Given the description of an element on the screen output the (x, y) to click on. 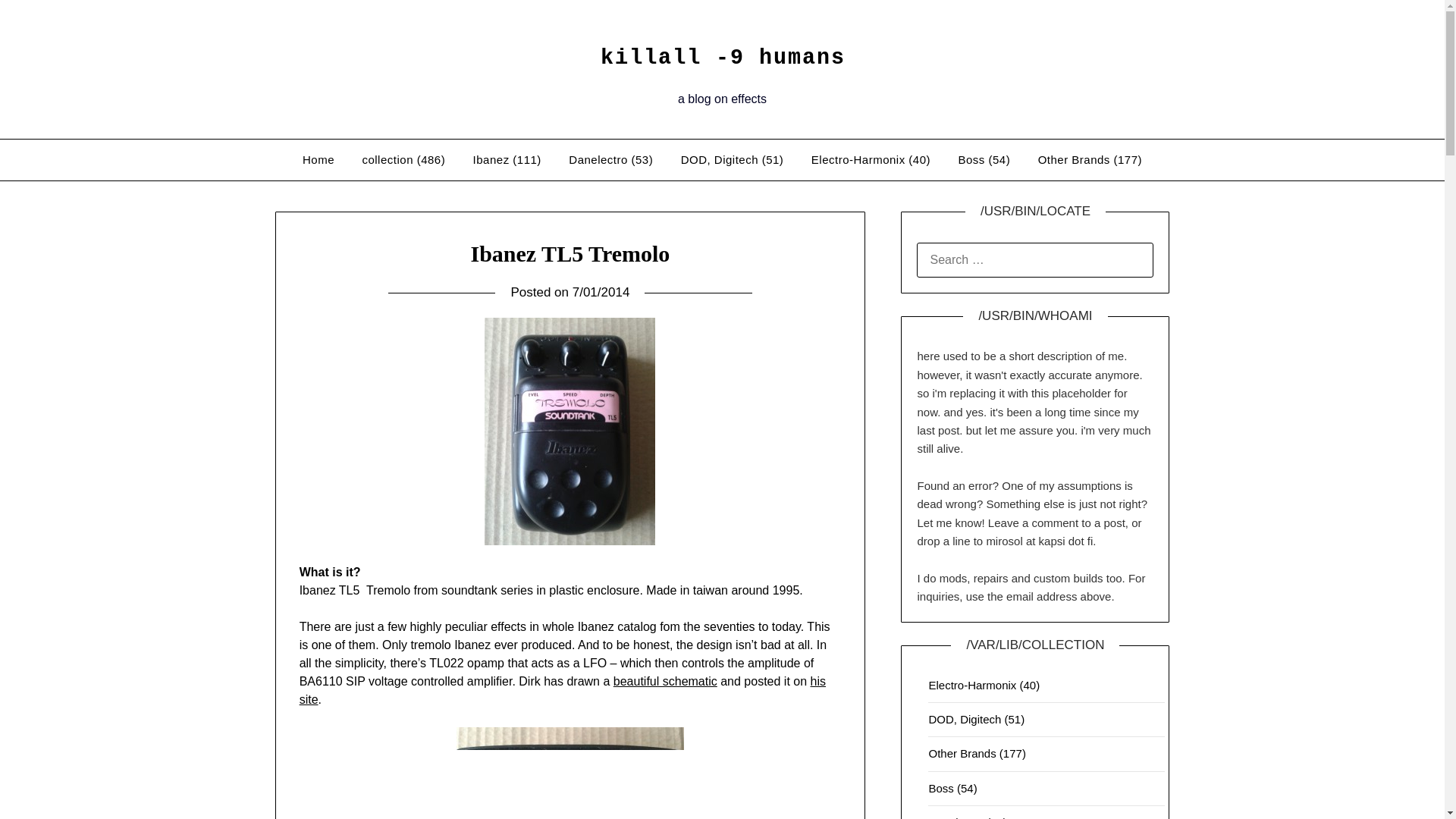
Home (317, 159)
his site (562, 689)
beautiful schematic (664, 680)
